Given the description of an element on the screen output the (x, y) to click on. 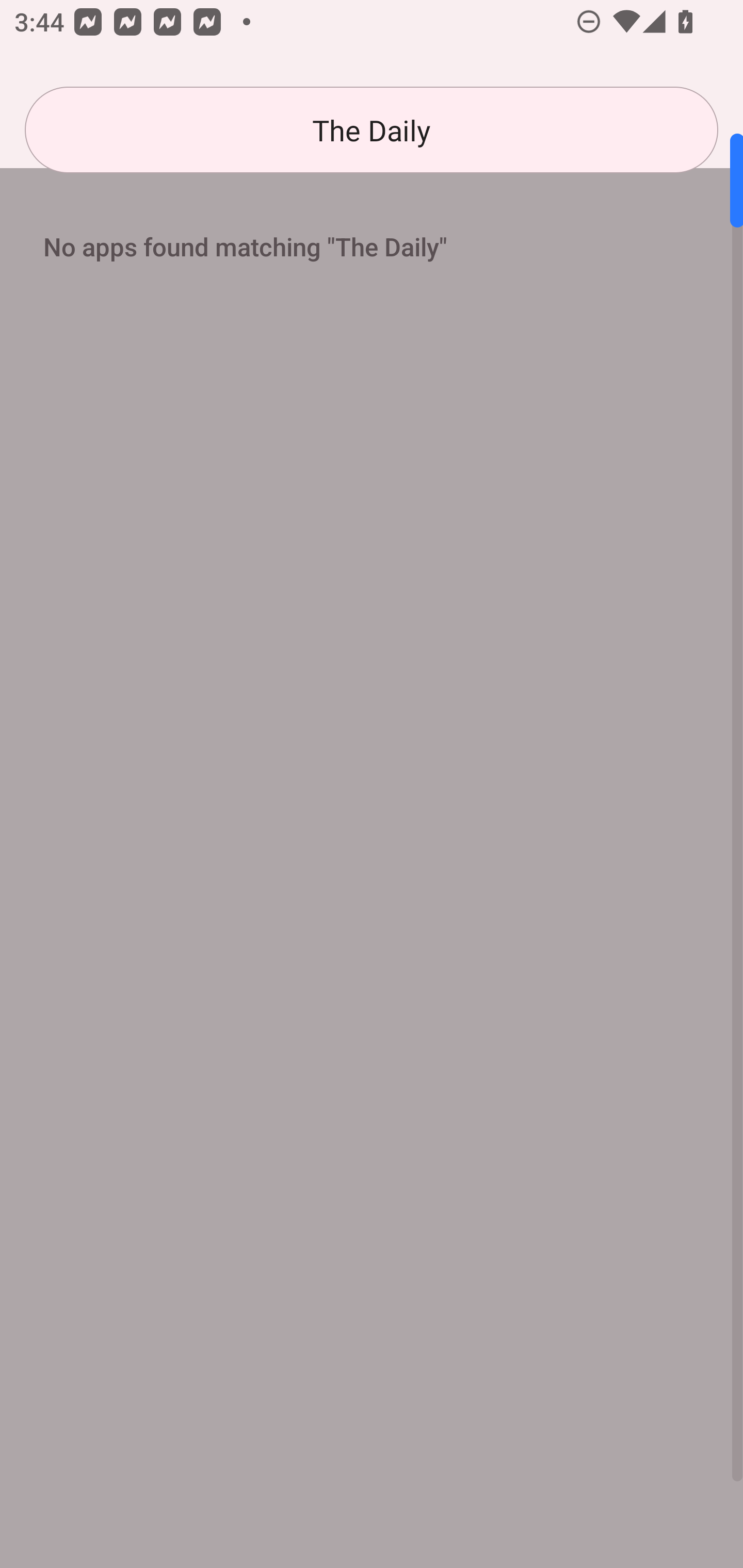
The Daily (371, 130)
